Given the description of an element on the screen output the (x, y) to click on. 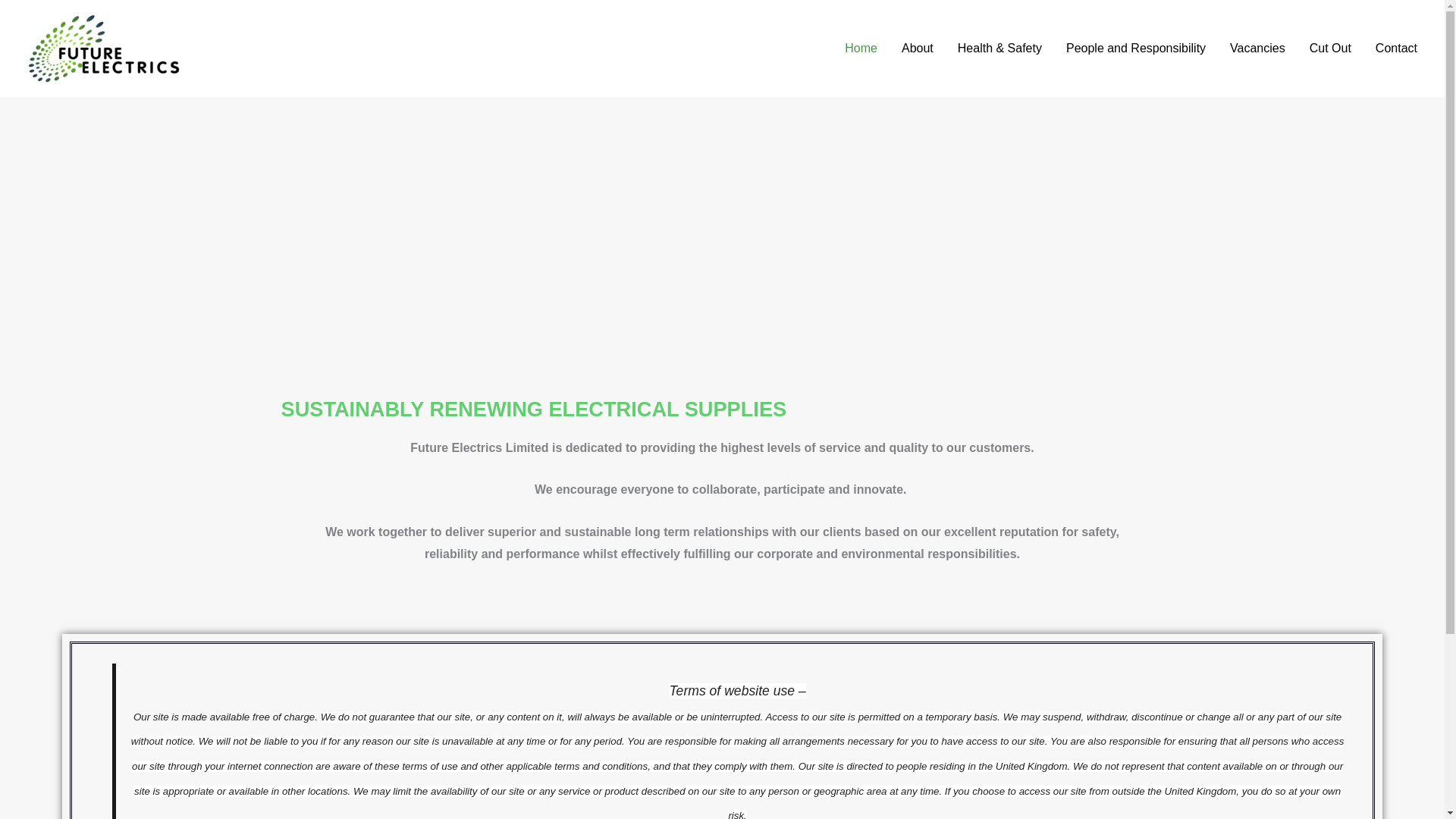
People and Responsibility (1135, 48)
About (916, 48)
Vacancies (1257, 48)
Home (860, 48)
Contact (1395, 48)
Cut Out (1329, 48)
